Given the description of an element on the screen output the (x, y) to click on. 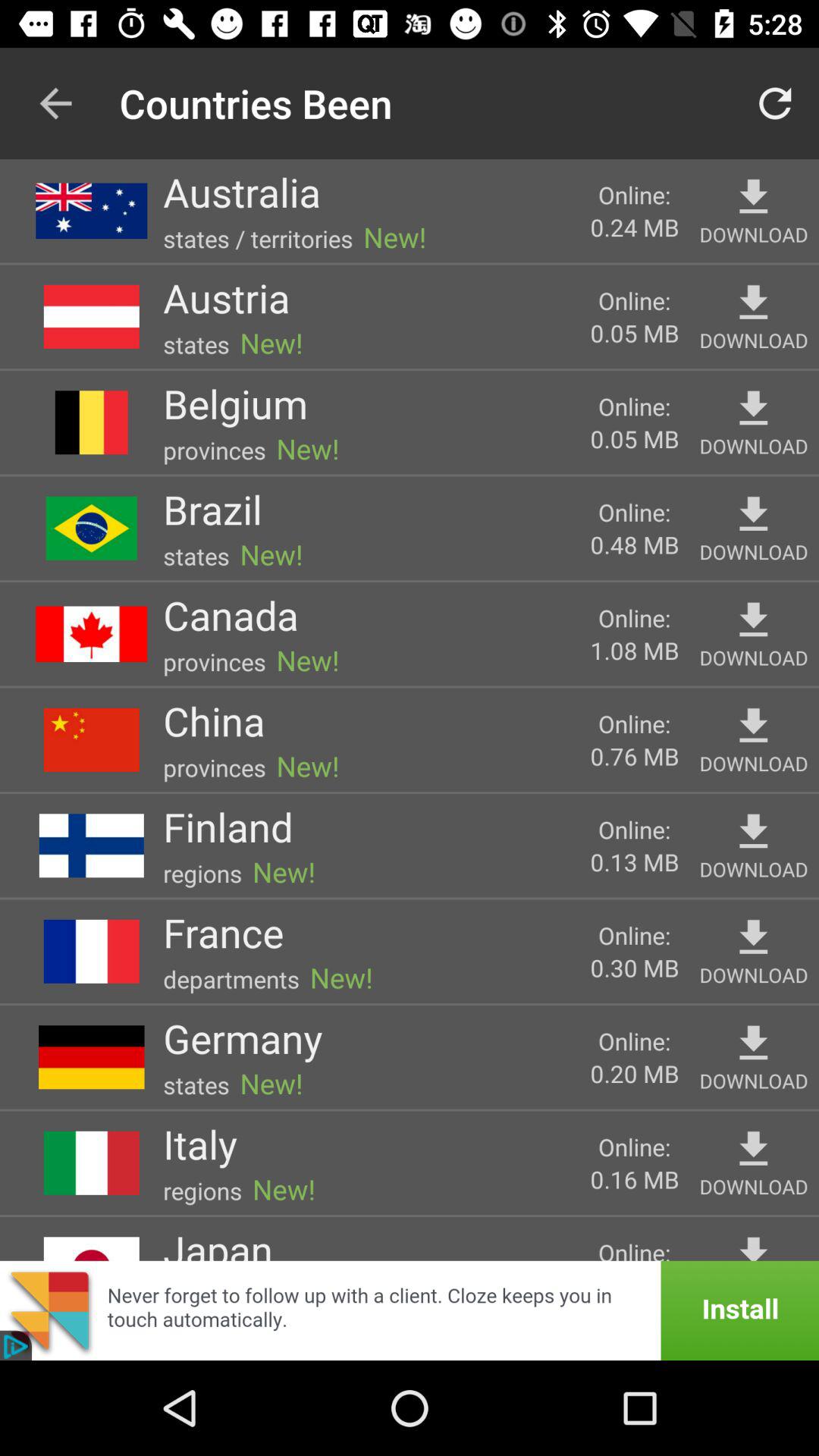
redirect to advertisement page (409, 1310)
